Given the description of an element on the screen output the (x, y) to click on. 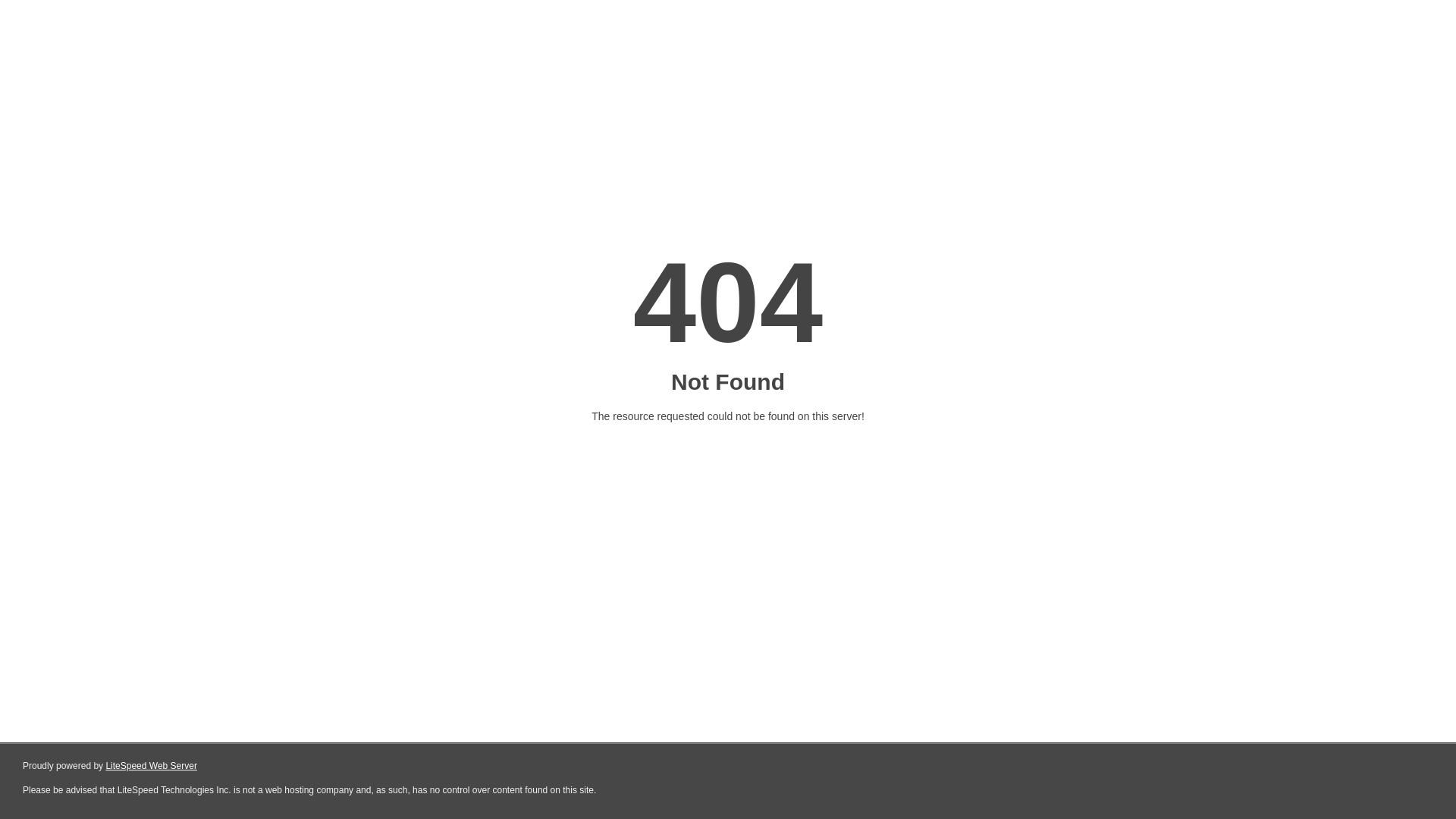
LiteSpeed Web Server Element type: text (151, 765)
